Given the description of an element on the screen output the (x, y) to click on. 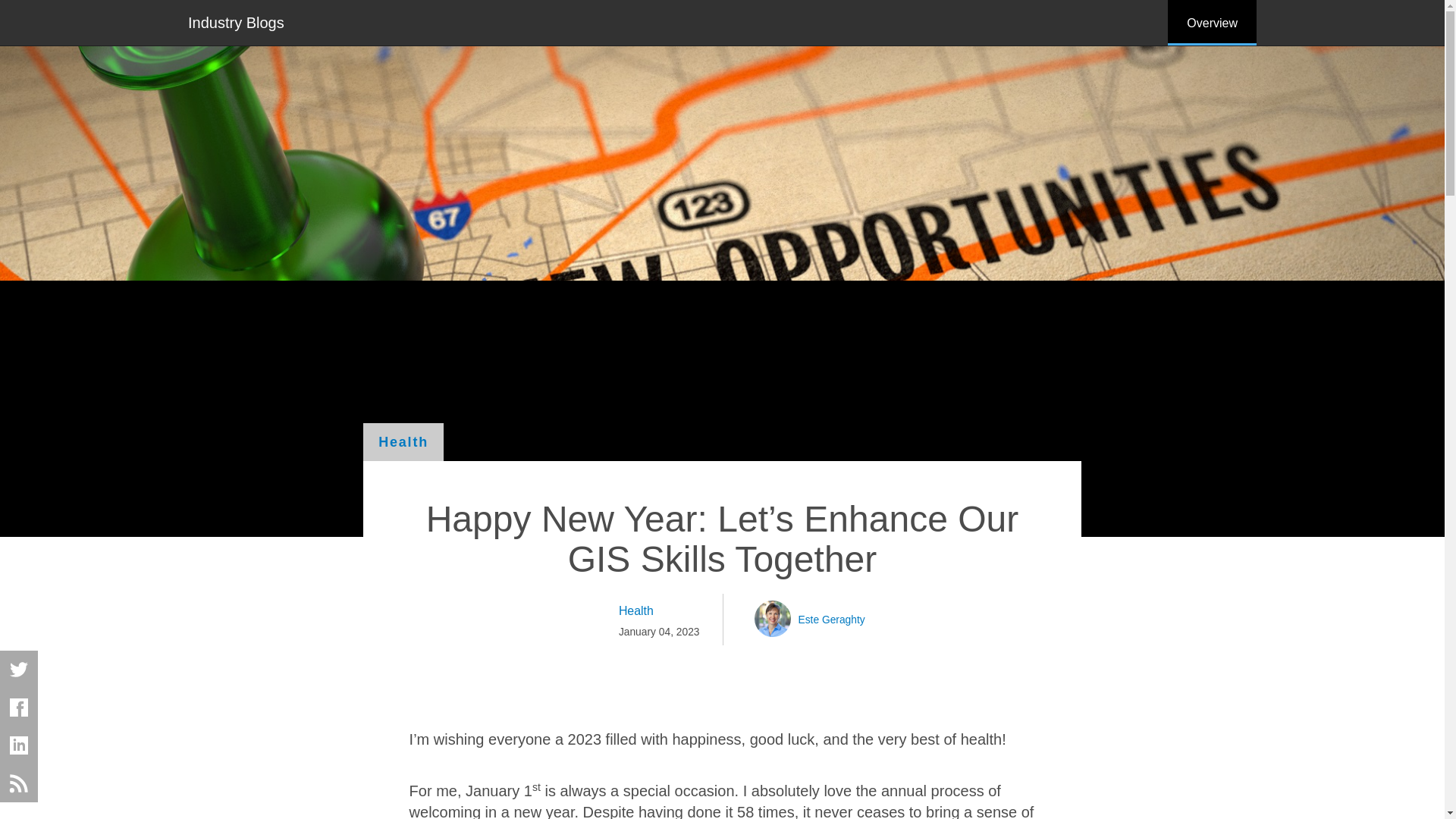
Este Geraghty (830, 619)
Industry Blogs (235, 21)
Health (659, 610)
Health (403, 442)
Overview (1211, 22)
